Given the description of an element on the screen output the (x, y) to click on. 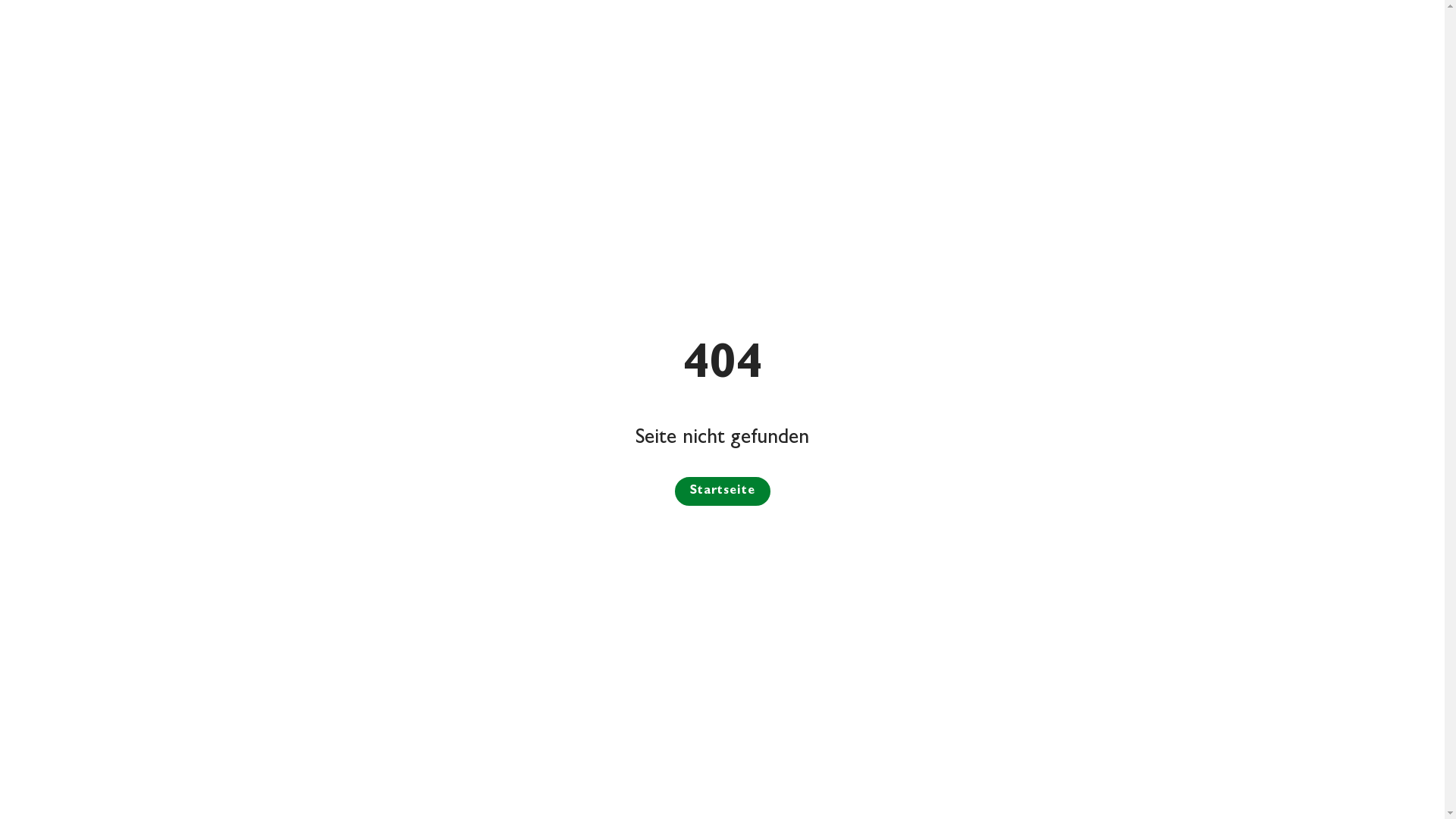
Startseite Element type: text (722, 491)
